Given the description of an element on the screen output the (x, y) to click on. 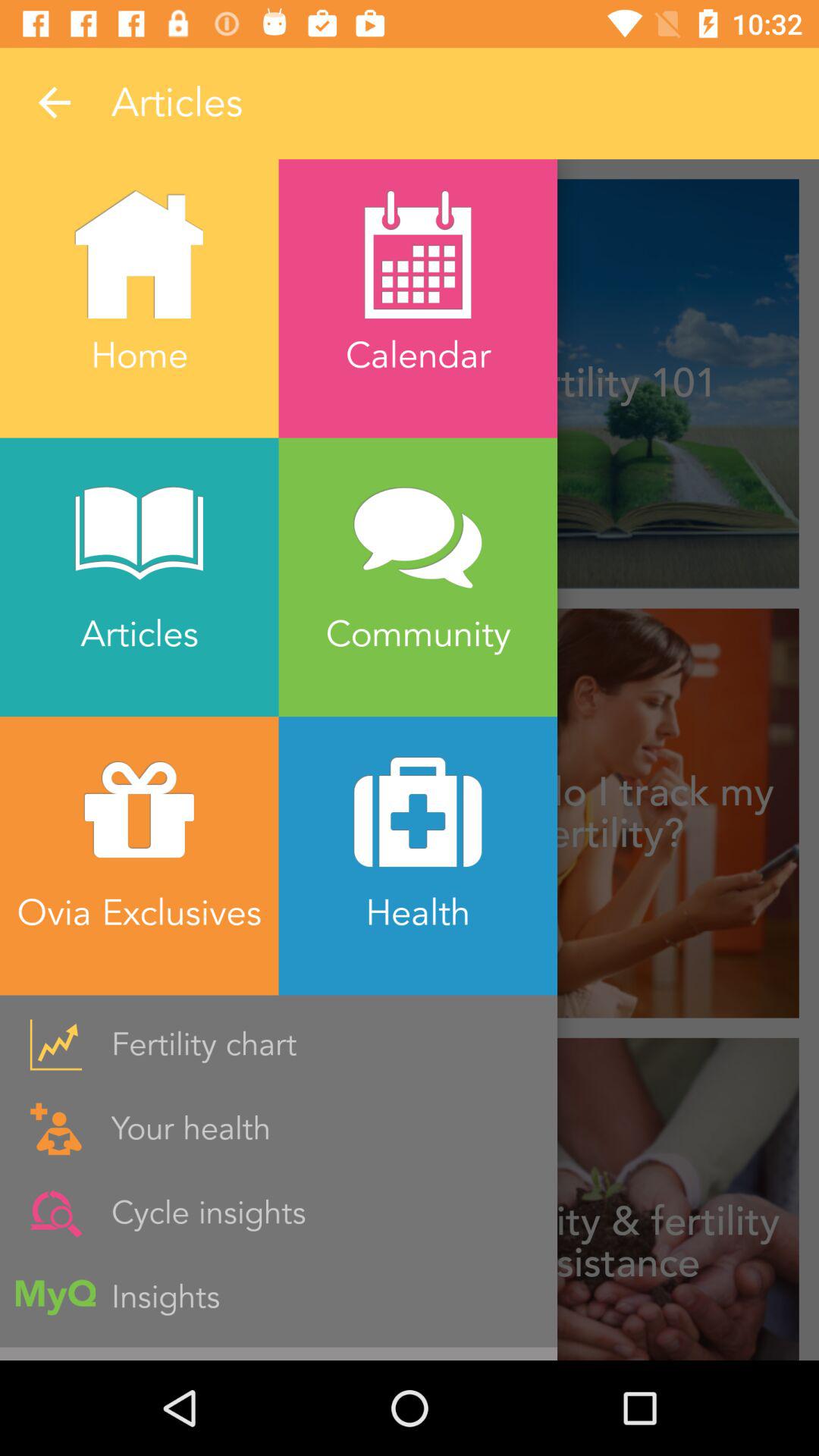
select the text articles on the web page (417, 103)
